Given the description of an element on the screen output the (x, y) to click on. 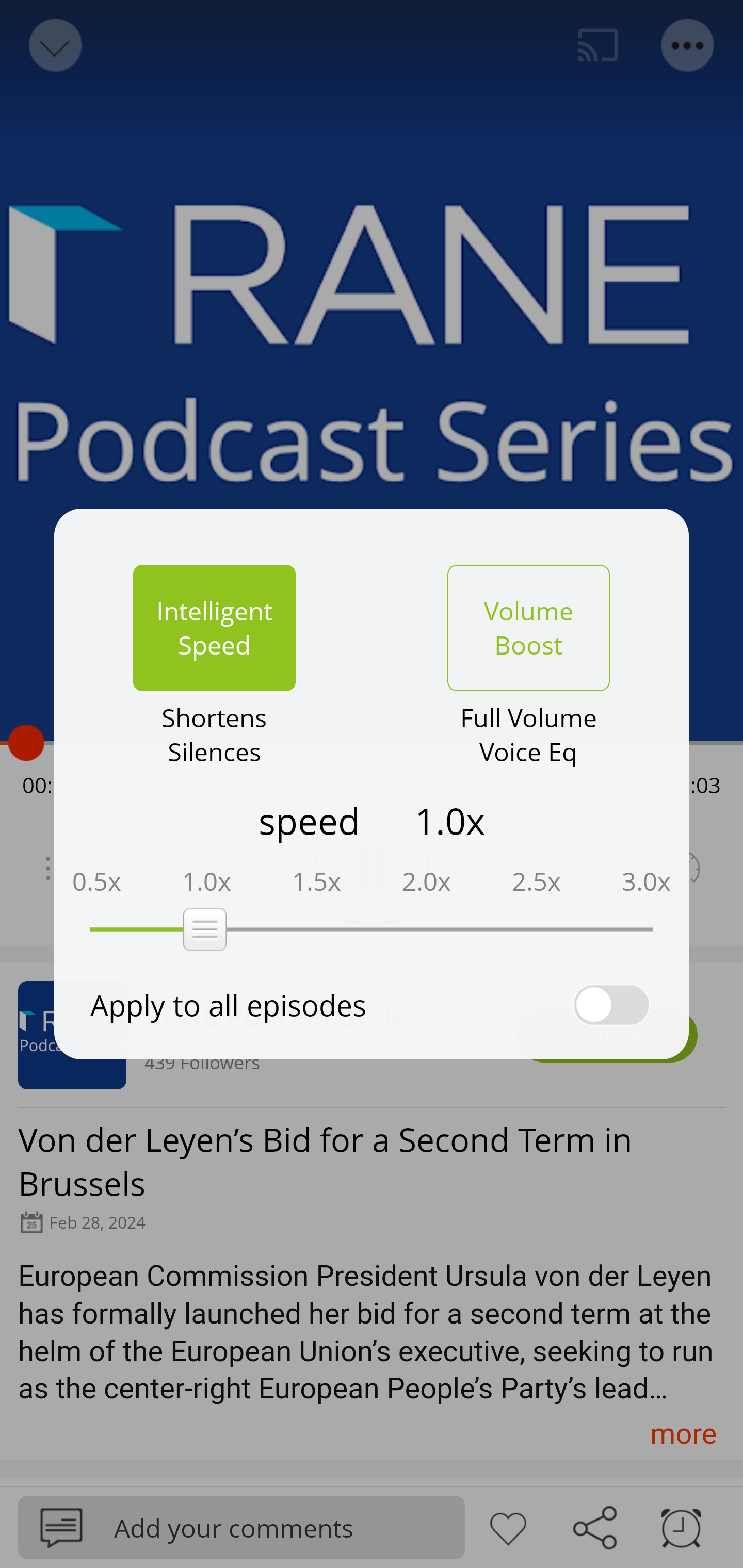
Intelligent
Speed (213, 627)
Volume
Boost (528, 627)
